Given the description of an element on the screen output the (x, y) to click on. 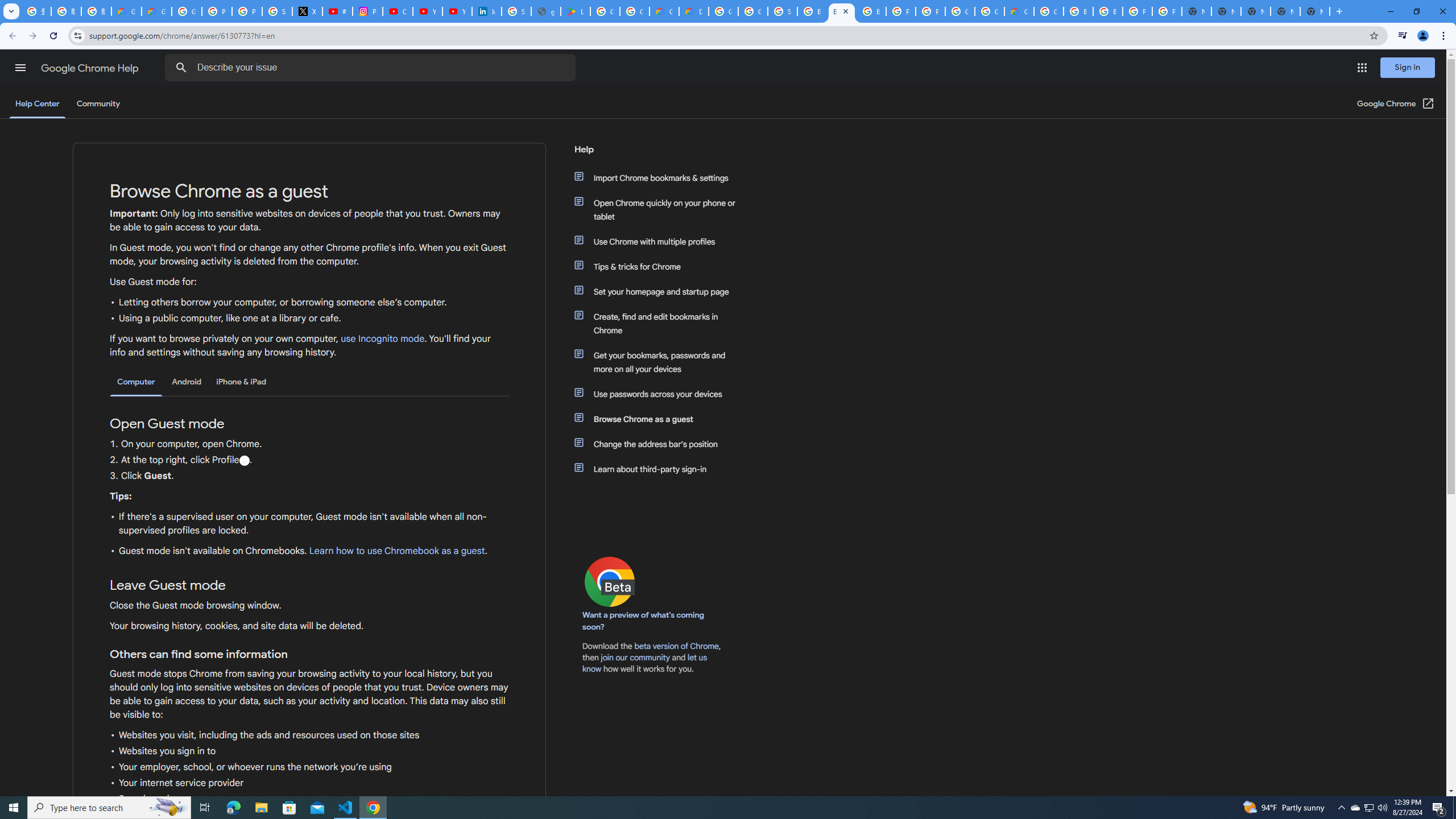
Set your homepage and startup page (661, 291)
Browse Chrome as a guest - Computer - Google Chrome Help (1107, 11)
iPhone & iPad (240, 381)
Profile (243, 460)
Last Shelter: Survival - Apps on Google Play (575, 11)
System (6, 6)
Open Chrome quickly on your phone or tablet (661, 209)
use Incognito mode (382, 338)
Import Chrome bookmarks & settings (661, 177)
Google Cloud Estimate Summary (1018, 11)
Help Center (36, 103)
Computer (136, 382)
X (306, 11)
